Given the description of an element on the screen output the (x, y) to click on. 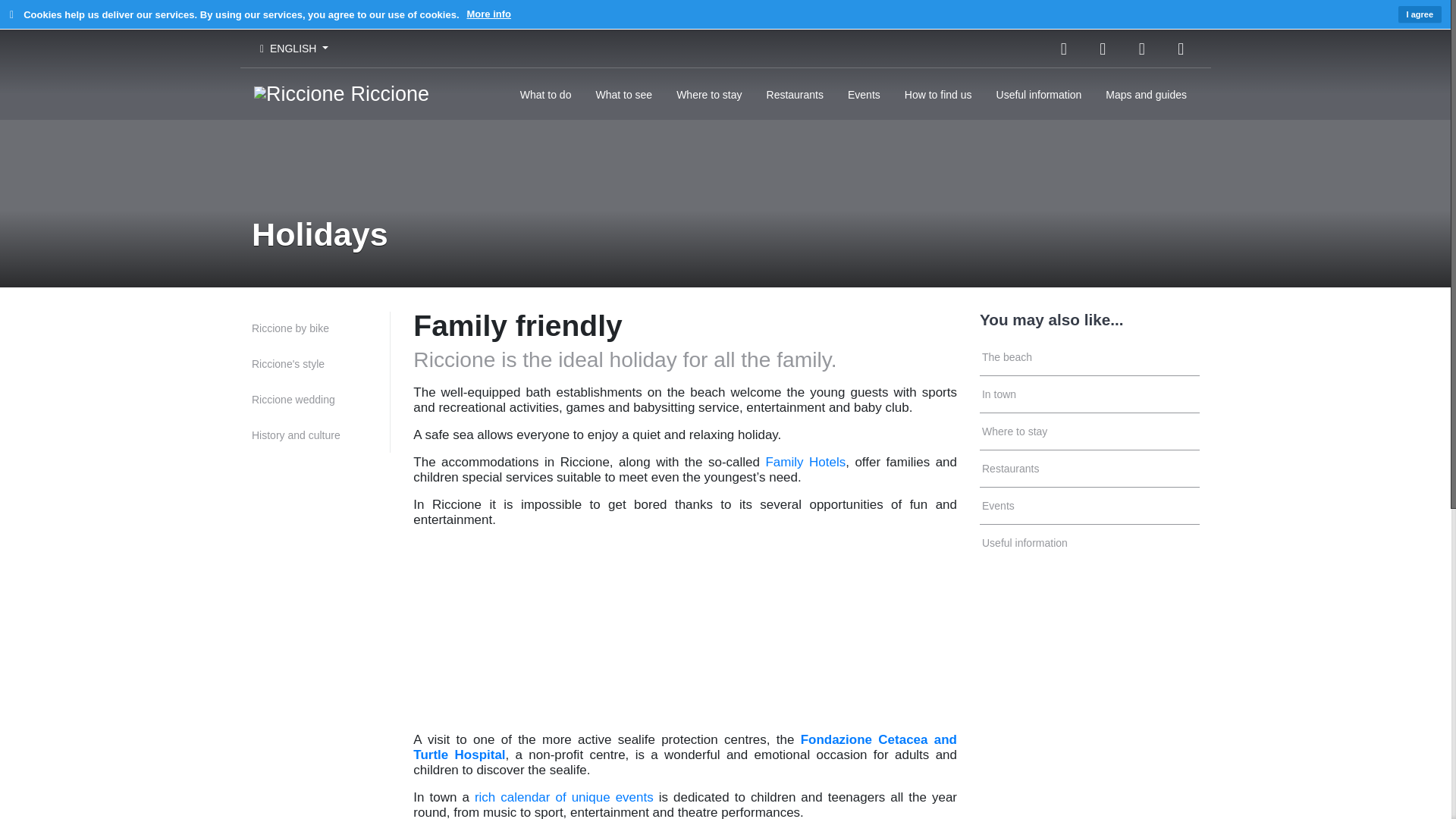
What to see (623, 93)
Riccione's style (320, 364)
Riccione (340, 93)
Restaurants (1089, 468)
rich calendar of unique events (563, 797)
The beach (1089, 357)
How to find us (938, 93)
History and culture (320, 435)
Useful information (1039, 93)
ENGLISH (294, 48)
